Given the description of an element on the screen output the (x, y) to click on. 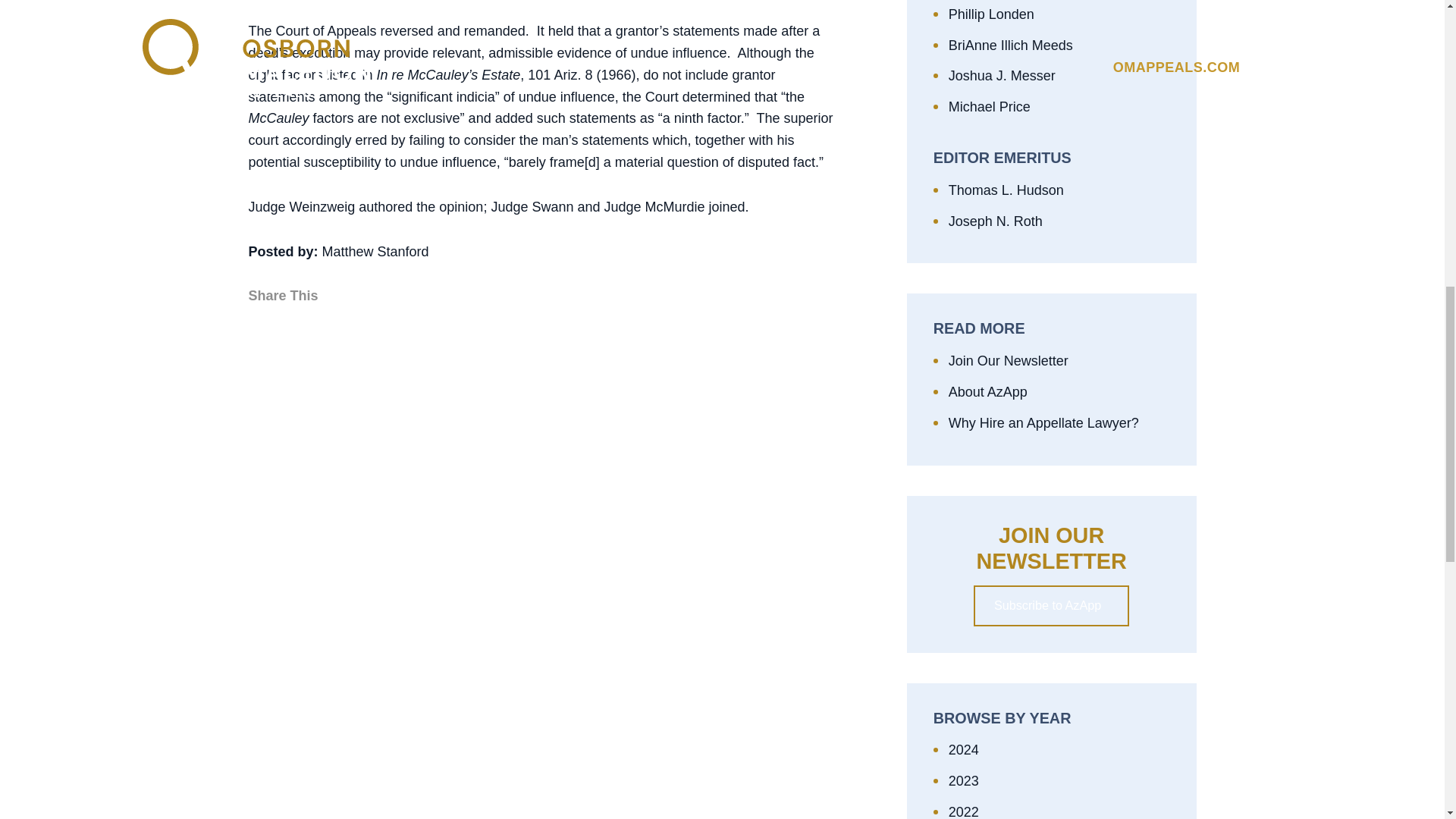
Subscribe to AzApp (1051, 605)
Why Hire an Appellate Lawyer? (1059, 423)
Share This (287, 296)
2022 (1059, 810)
Join Our Newsletter (1059, 361)
2023 (1059, 781)
2024 (1059, 750)
About AzApp (1059, 392)
